Given the description of an element on the screen output the (x, y) to click on. 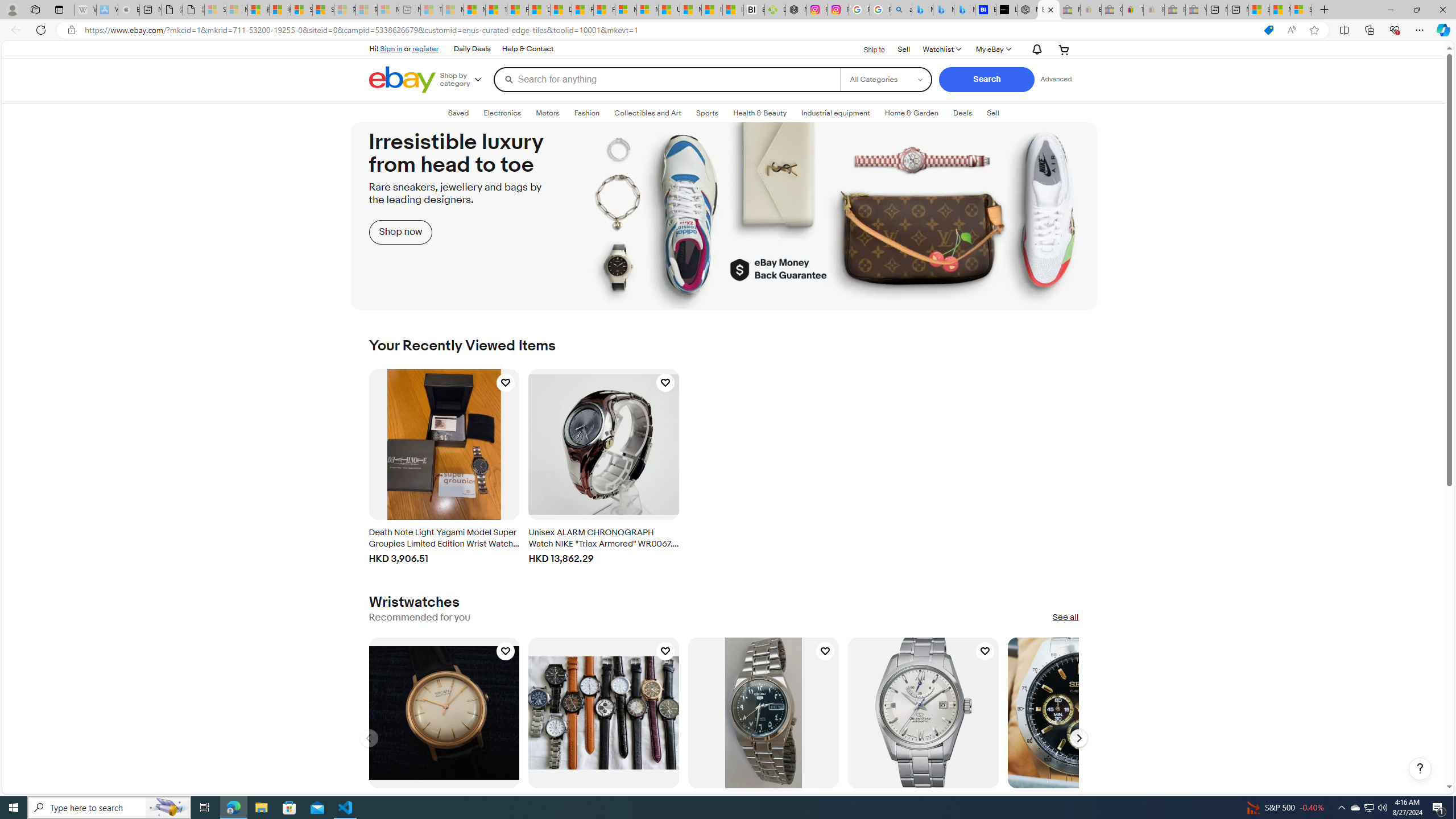
Expand Cart (1064, 49)
SportsExpand: Sports (707, 112)
Payments Terms of Use | eBay.com - Sleeping (1153, 9)
Microsoft account | Account Checkup - Sleeping (387, 9)
Microsoft Bing Travel - Flights from Hong Kong to Bangkok (922, 9)
Sports (707, 112)
Collectibles and Art (647, 112)
